Given the description of an element on the screen output the (x, y) to click on. 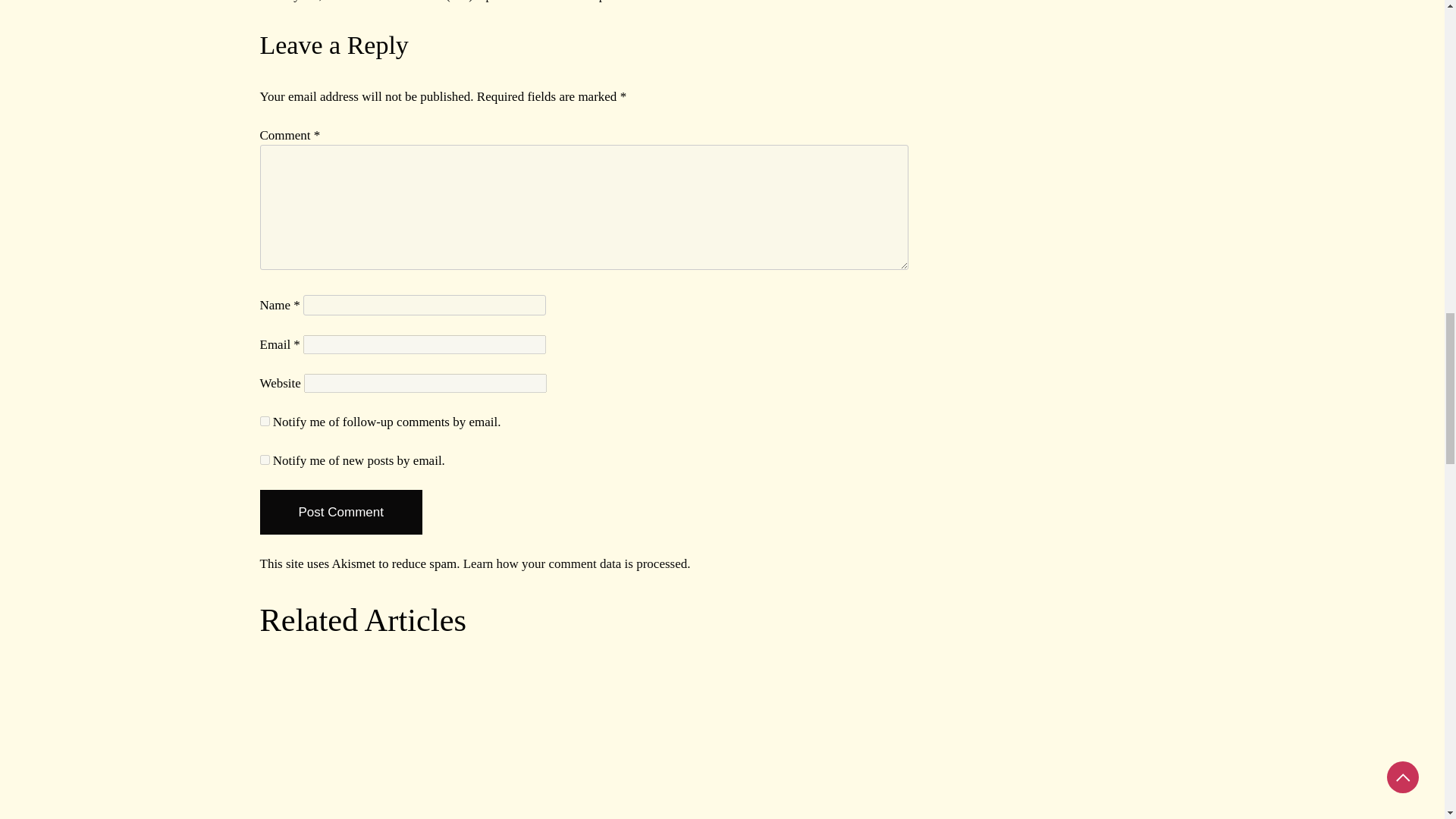
subscribe (264, 460)
Post Comment (340, 512)
subscribe (264, 420)
